Given the description of an element on the screen output the (x, y) to click on. 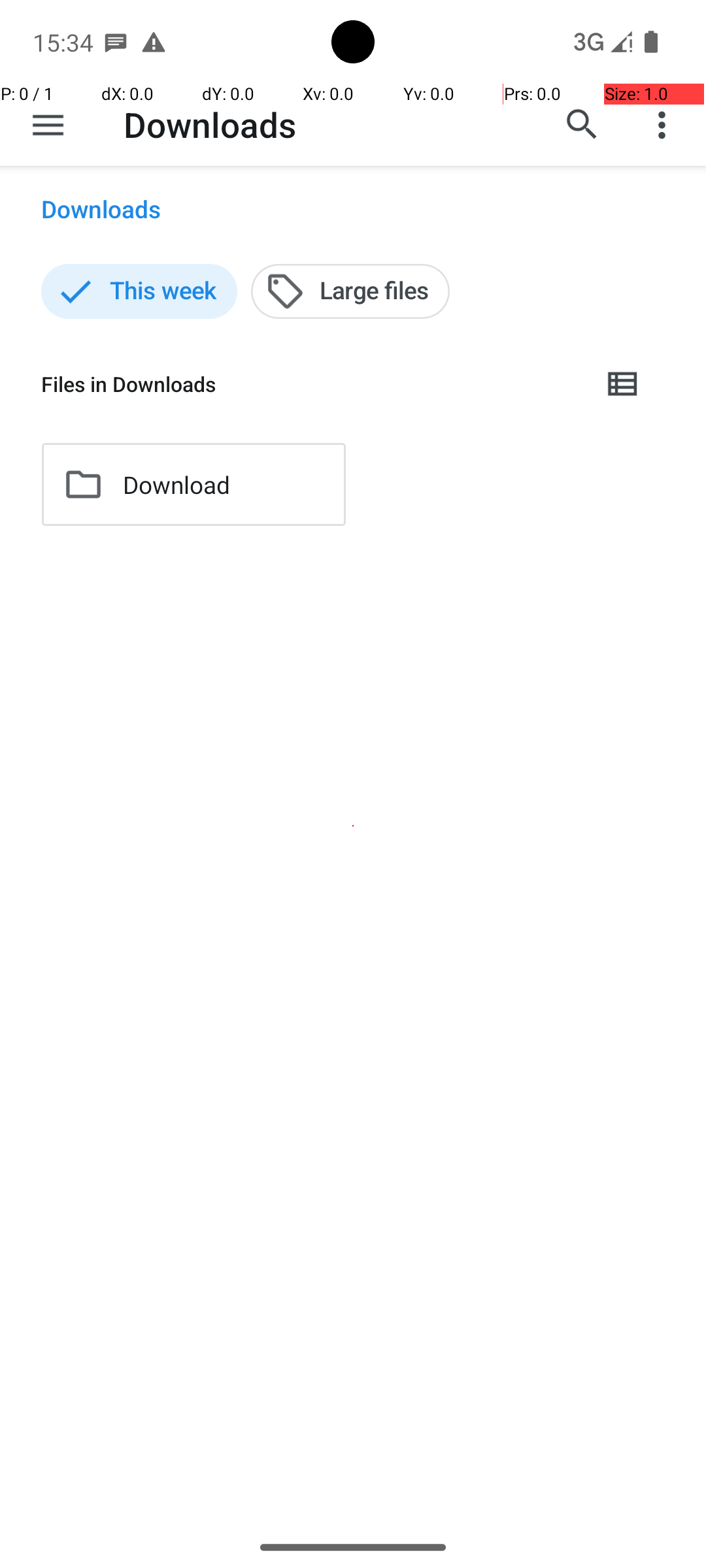
Download Element type: android.widget.TextView (176, 484)
